Given the description of an element on the screen output the (x, y) to click on. 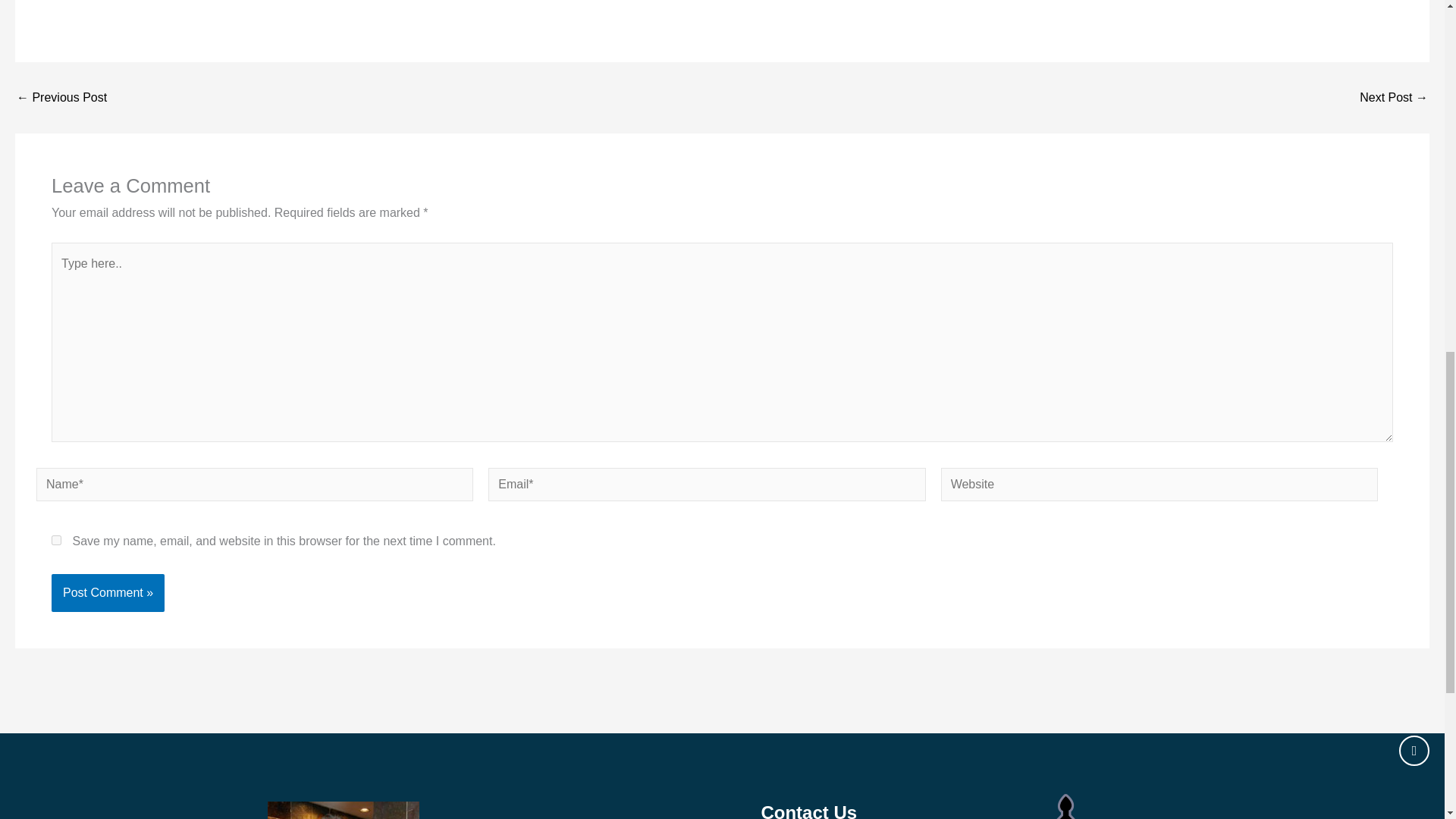
The right way to Meet International Girl on Dating Sites (1393, 97)
yes (55, 540)
